Given the description of an element on the screen output the (x, y) to click on. 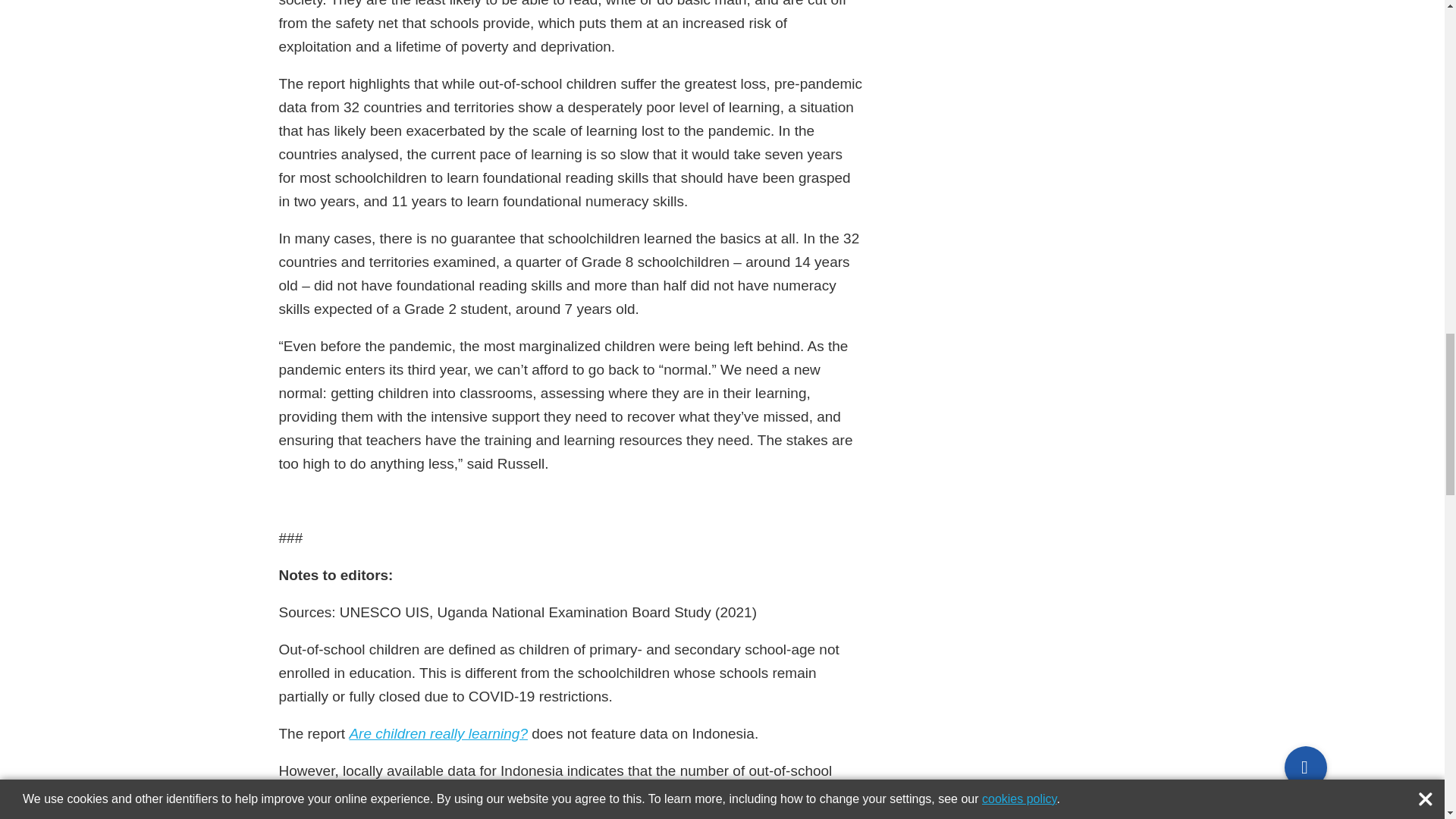
Are children really learning? (438, 733)
